Given the description of an element on the screen output the (x, y) to click on. 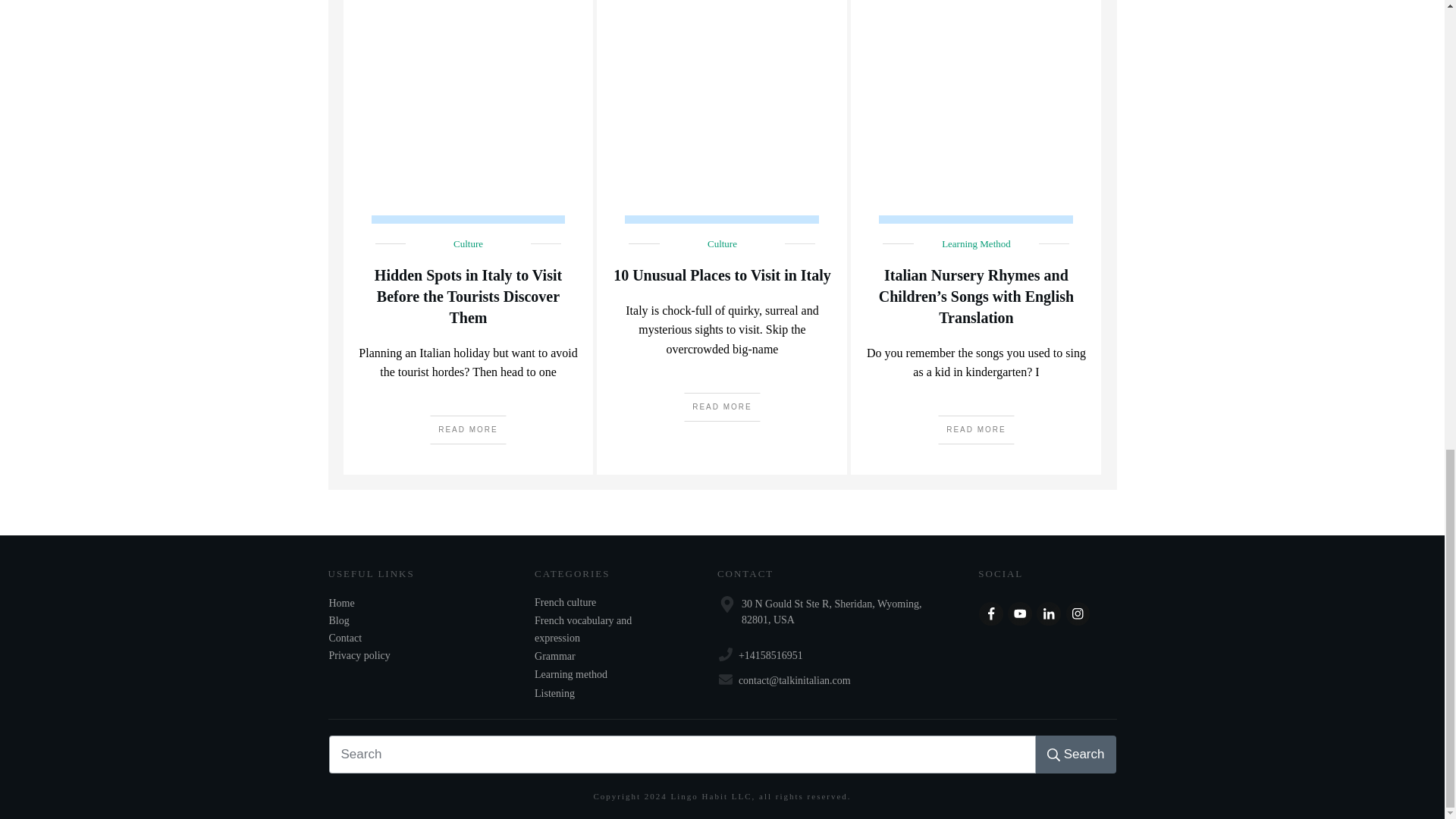
Learning Method (976, 243)
READ MORE (975, 429)
Culture (721, 243)
READ MORE (722, 407)
10 Unusual Places to Visit in Italy (721, 274)
Culture (721, 243)
Culture (467, 243)
Learning Method (976, 243)
Culture (467, 243)
